Given the description of an element on the screen output the (x, y) to click on. 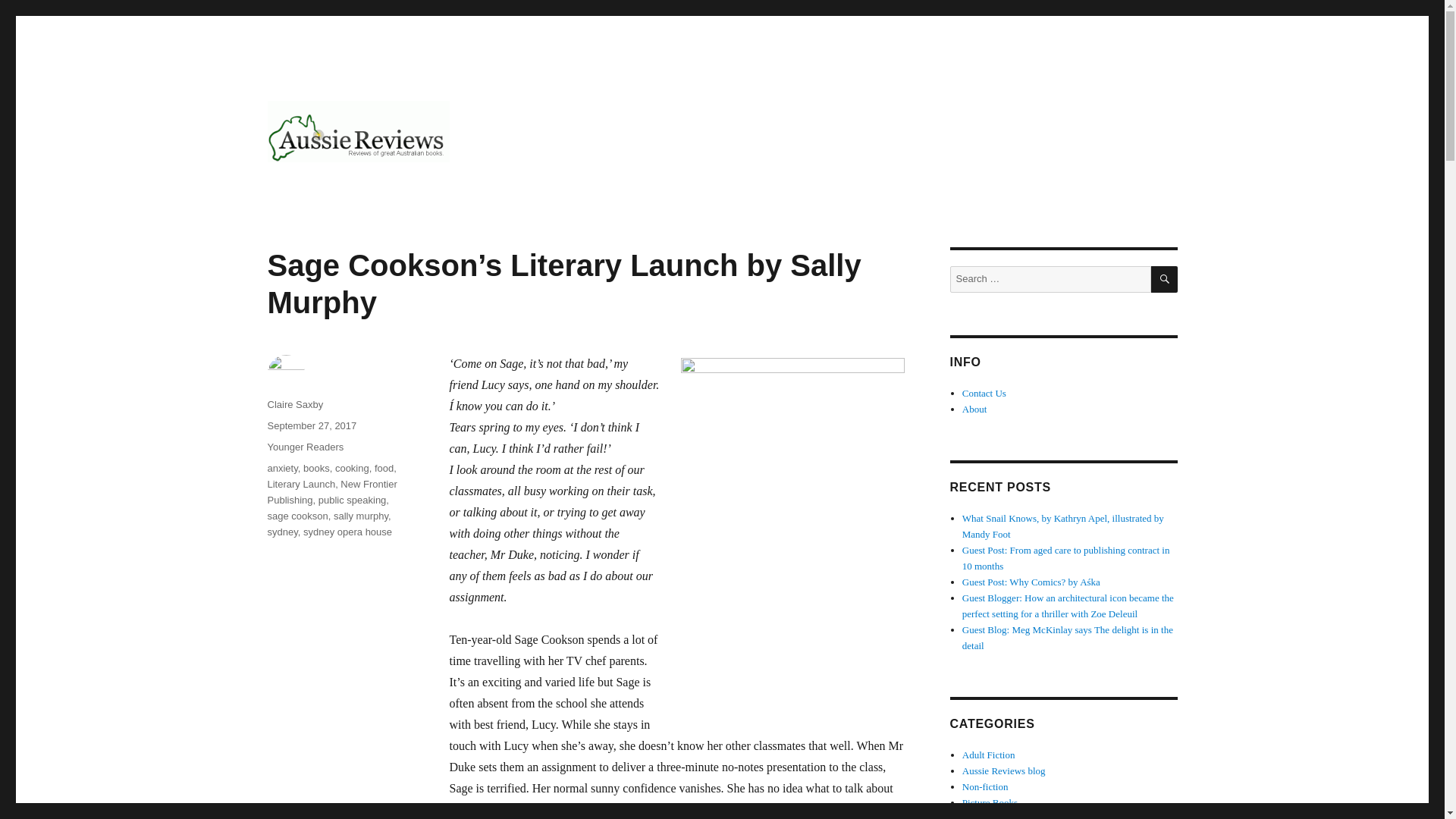
What Snail Knows, by Kathryn Apel, illustrated by Mandy Foot (1062, 525)
sydney opera house (346, 531)
cooking (351, 468)
public speaking (352, 500)
Contact Us (984, 392)
Aussie Reviews (347, 186)
Uncategorised (990, 816)
Non-fiction (985, 786)
Younger Readers (304, 446)
sage cookson (296, 515)
Claire Saxby (294, 404)
About (974, 408)
SEARCH (1164, 279)
Literary Launch (300, 483)
